Given the description of an element on the screen output the (x, y) to click on. 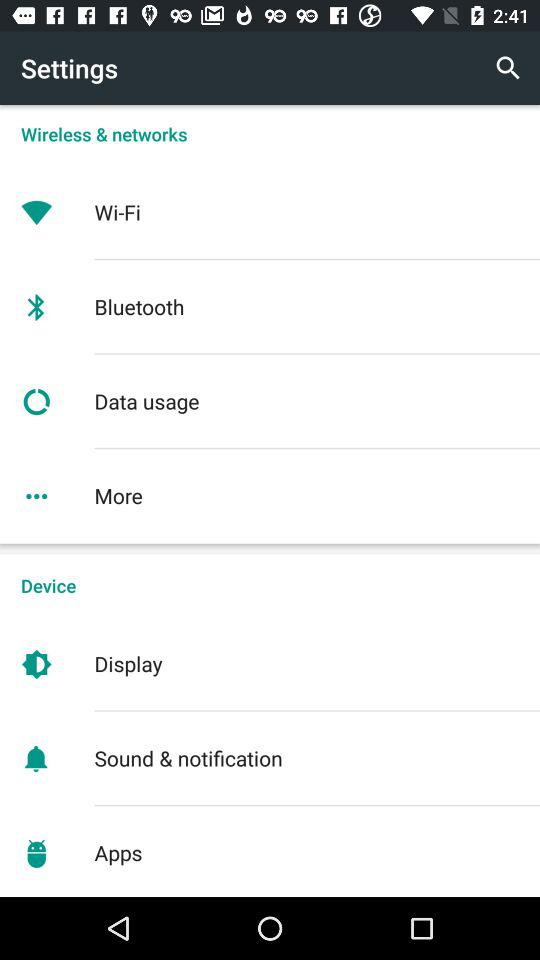
tap the icon next to the settings app (508, 67)
